Given the description of an element on the screen output the (x, y) to click on. 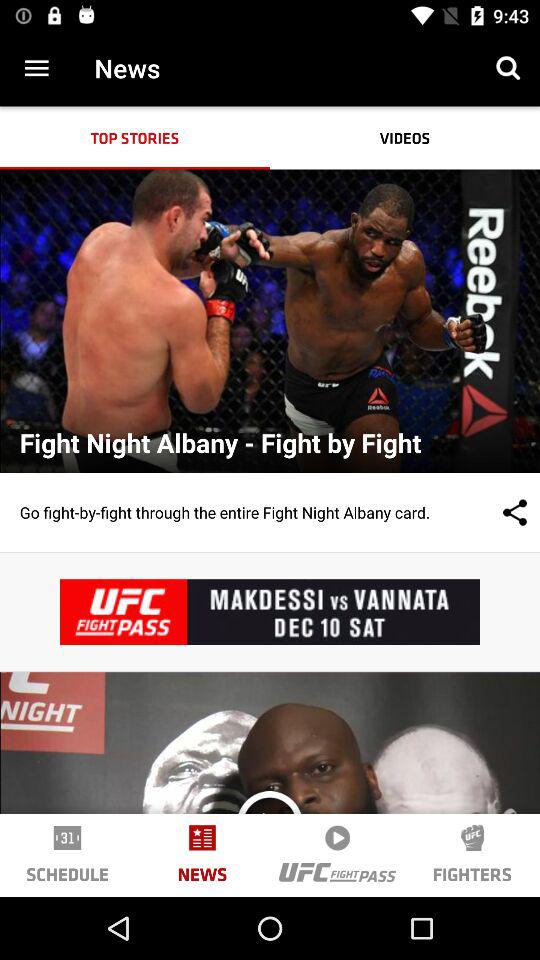
turn off item next to the news (36, 68)
